Given the description of an element on the screen output the (x, y) to click on. 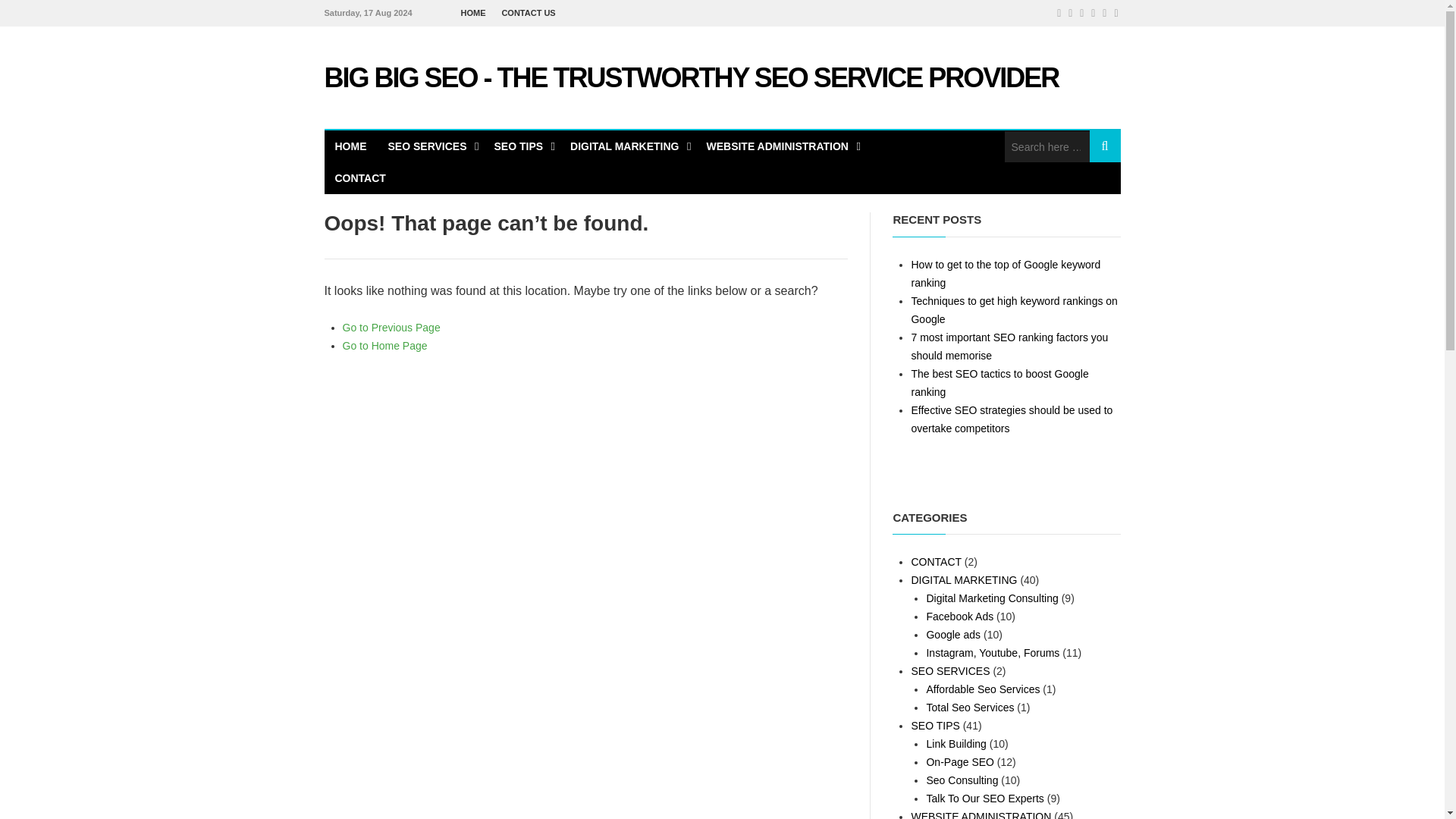
SEO SERVICES (430, 146)
Go to Previous Page (391, 327)
HOME (473, 13)
DIGITAL MARKETING (627, 146)
